Given the description of an element on the screen output the (x, y) to click on. 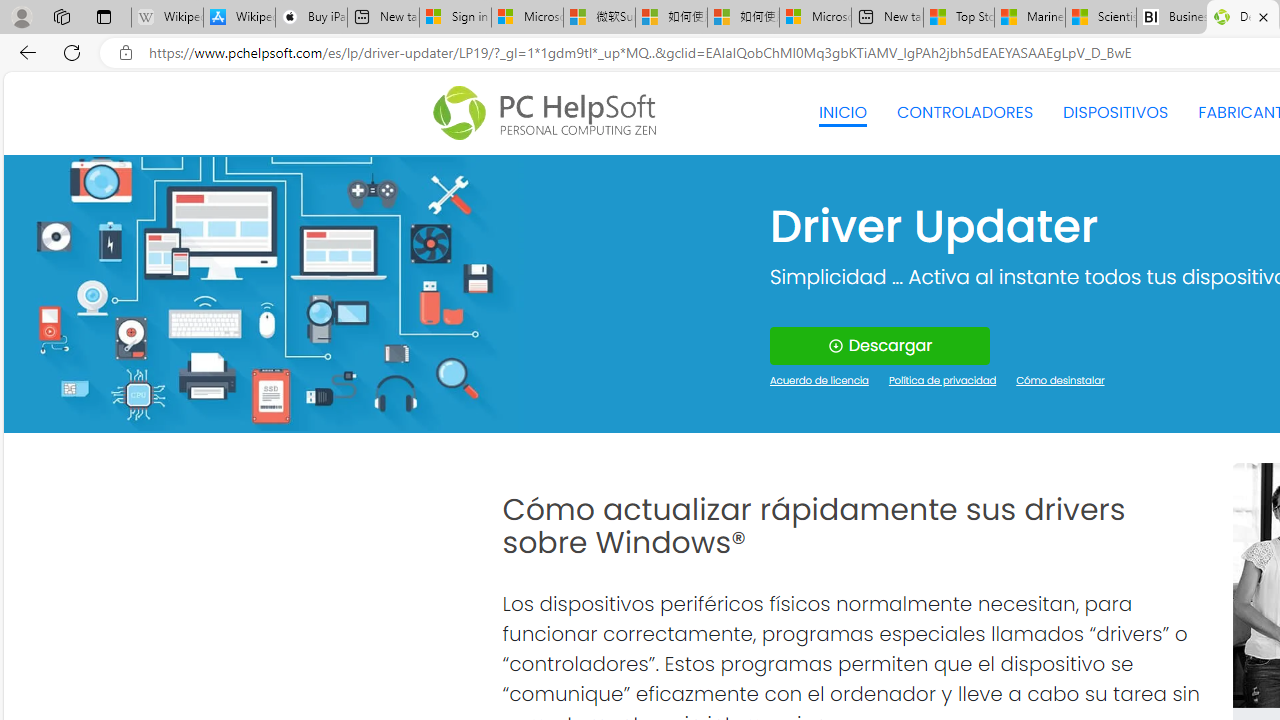
DISPOSITIVOS (1115, 112)
Download Icon (834, 345)
Microsoft Services Agreement (527, 17)
